Given the description of an element on the screen output the (x, y) to click on. 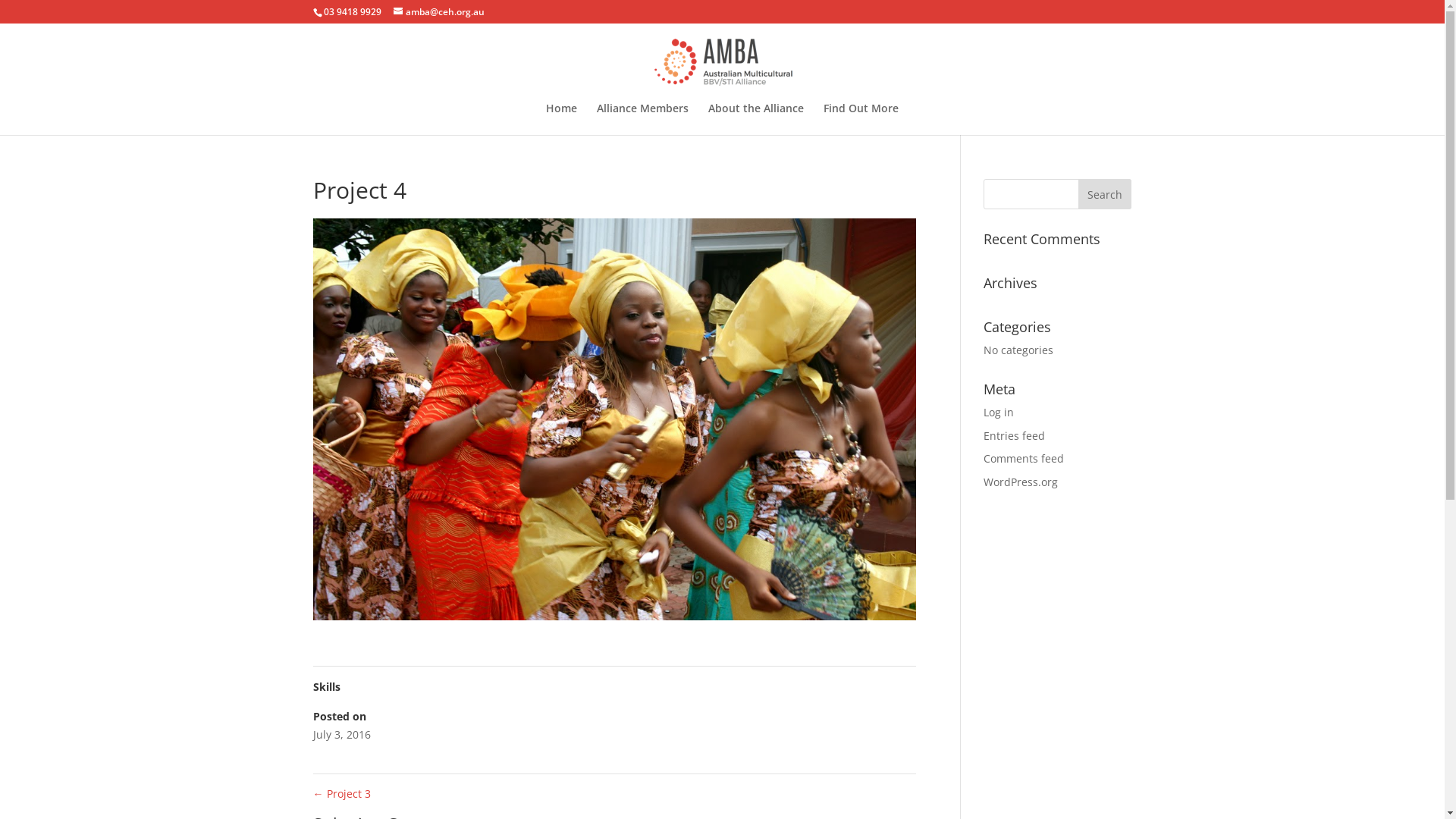
About the Alliance Element type: text (755, 118)
Search Element type: text (1104, 193)
Comments feed Element type: text (1023, 458)
Entries feed Element type: text (1013, 435)
Home Element type: text (561, 118)
Find Out More Element type: text (860, 118)
WordPress.org Element type: text (1020, 481)
Log in Element type: text (998, 411)
Alliance Members Element type: text (642, 118)
amba@ceh.org.au Element type: text (437, 11)
